Given the description of an element on the screen output the (x, y) to click on. 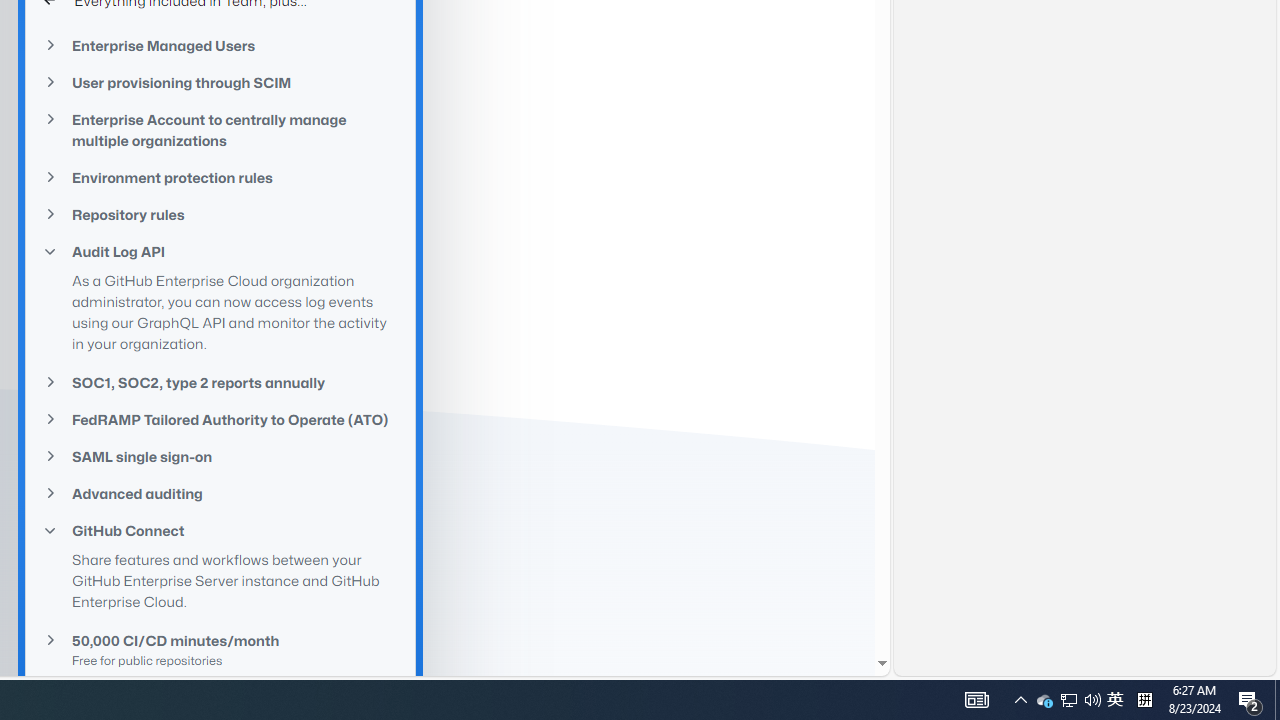
SAML single sign-on (220, 456)
50,000 CI/CD minutes/month Free for public repositories (220, 650)
50,000 CI/CD minutes/monthFree for public repositories (220, 649)
Enterprise Managed Users (220, 45)
SOC1, SOC2, type 2 reports annually (220, 382)
User provisioning through SCIM (220, 83)
Enterprise Managed Users (220, 44)
Environment protection rules (220, 178)
SOC1, SOC2, type 2 reports annually (220, 381)
